Given the description of an element on the screen output the (x, y) to click on. 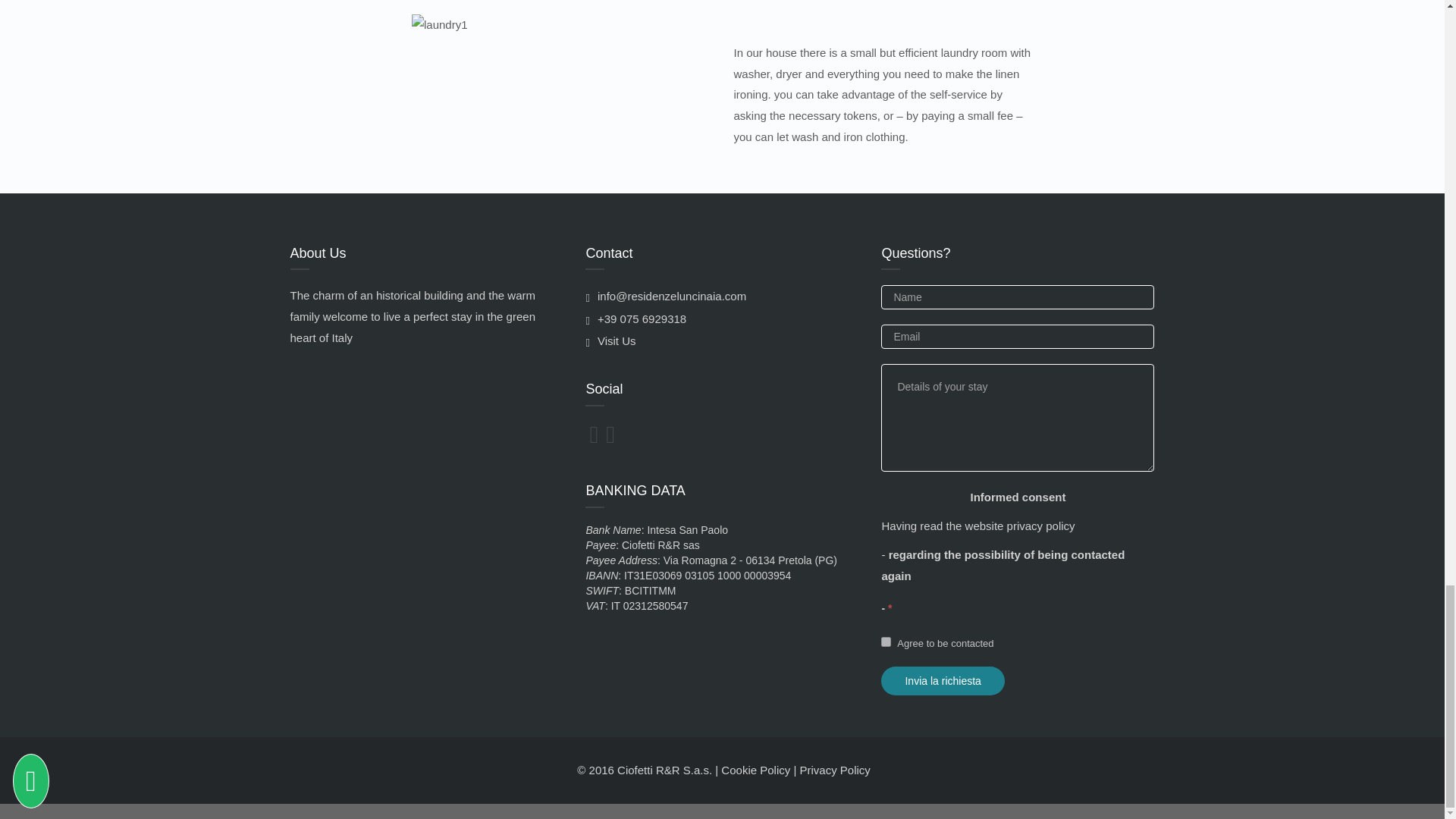
Cookie Policy (755, 769)
Visit Us (609, 340)
Invia la richiesta (942, 680)
Privacy Policy (834, 769)
website privacy policy (1020, 525)
Agree to be contacted (885, 642)
Invia la richiesta (942, 680)
